Given the description of an element on the screen output the (x, y) to click on. 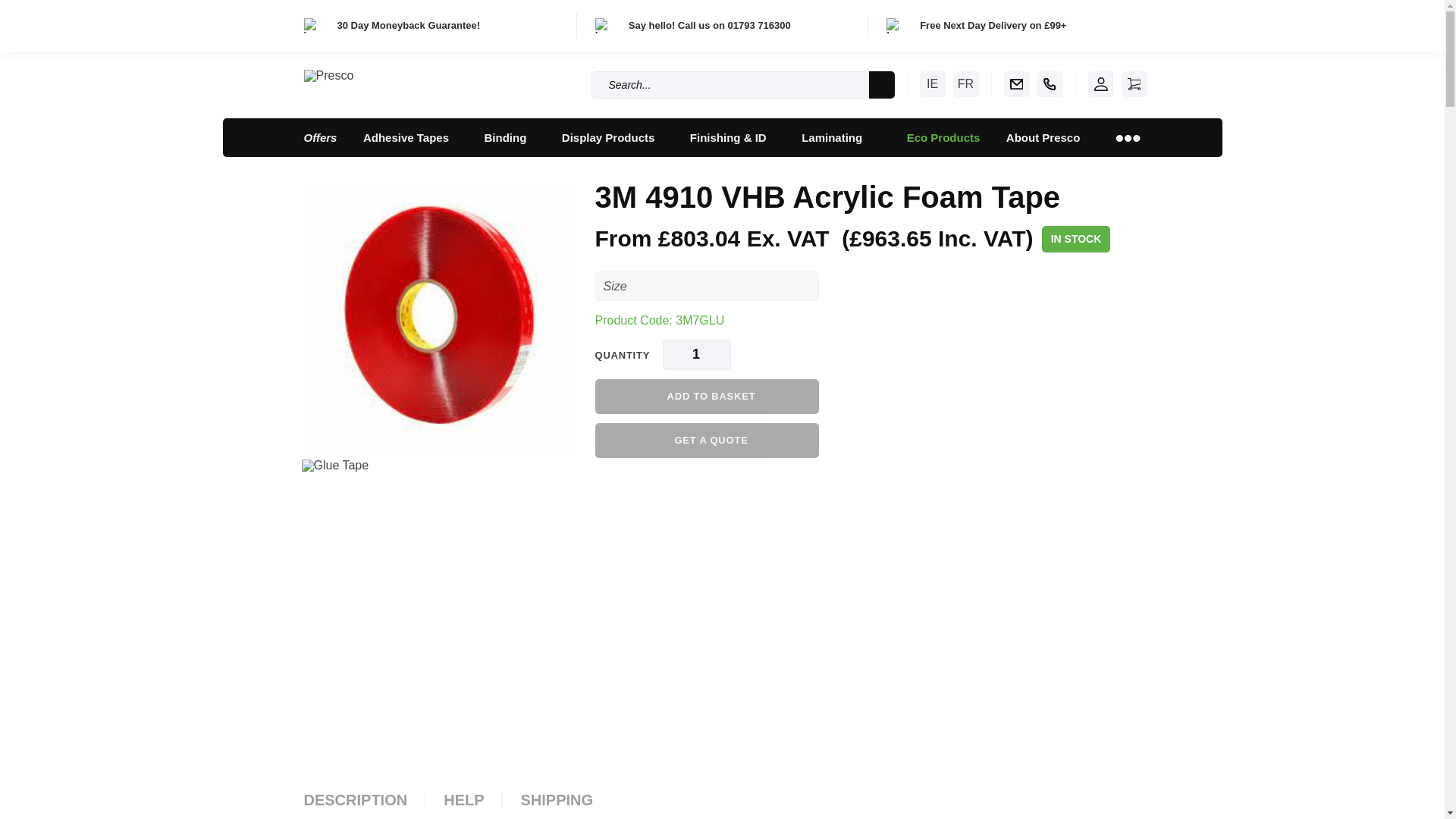
FR (965, 84)
Search (882, 84)
Display Products (612, 137)
Binding (509, 137)
Search... (730, 84)
IE (931, 84)
Search (882, 84)
1 (696, 354)
Adhesive Tapes (410, 137)
Search (882, 84)
Offers (320, 137)
